Given the description of an element on the screen output the (x, y) to click on. 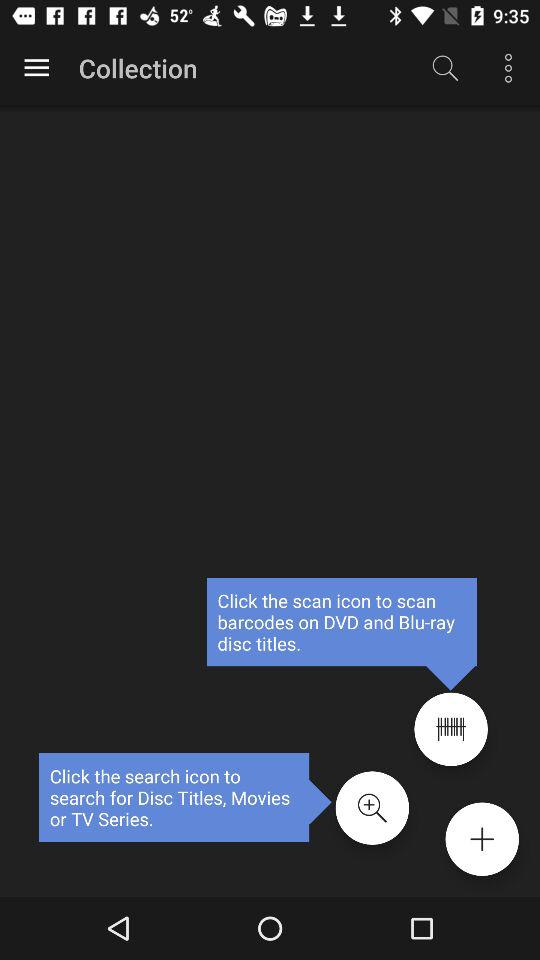
zoon in (372, 807)
